Given the description of an element on the screen output the (x, y) to click on. 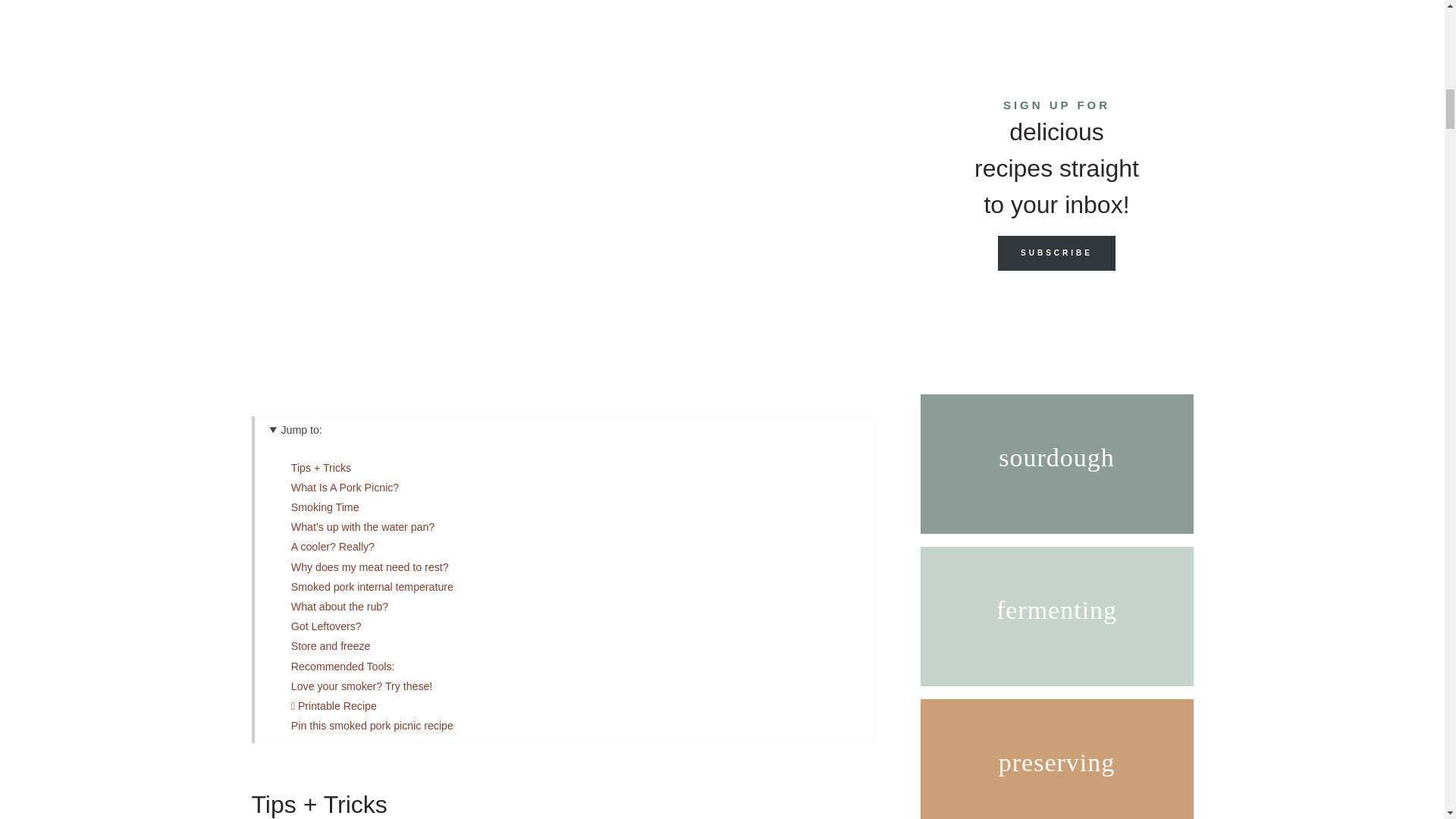
Why does my meat need to rest? (369, 567)
What Is A Pork Picnic? (344, 487)
Smoking Time (325, 507)
Smoked pork internal temperature (371, 586)
A cooler? Really? (332, 546)
